Given the description of an element on the screen output the (x, y) to click on. 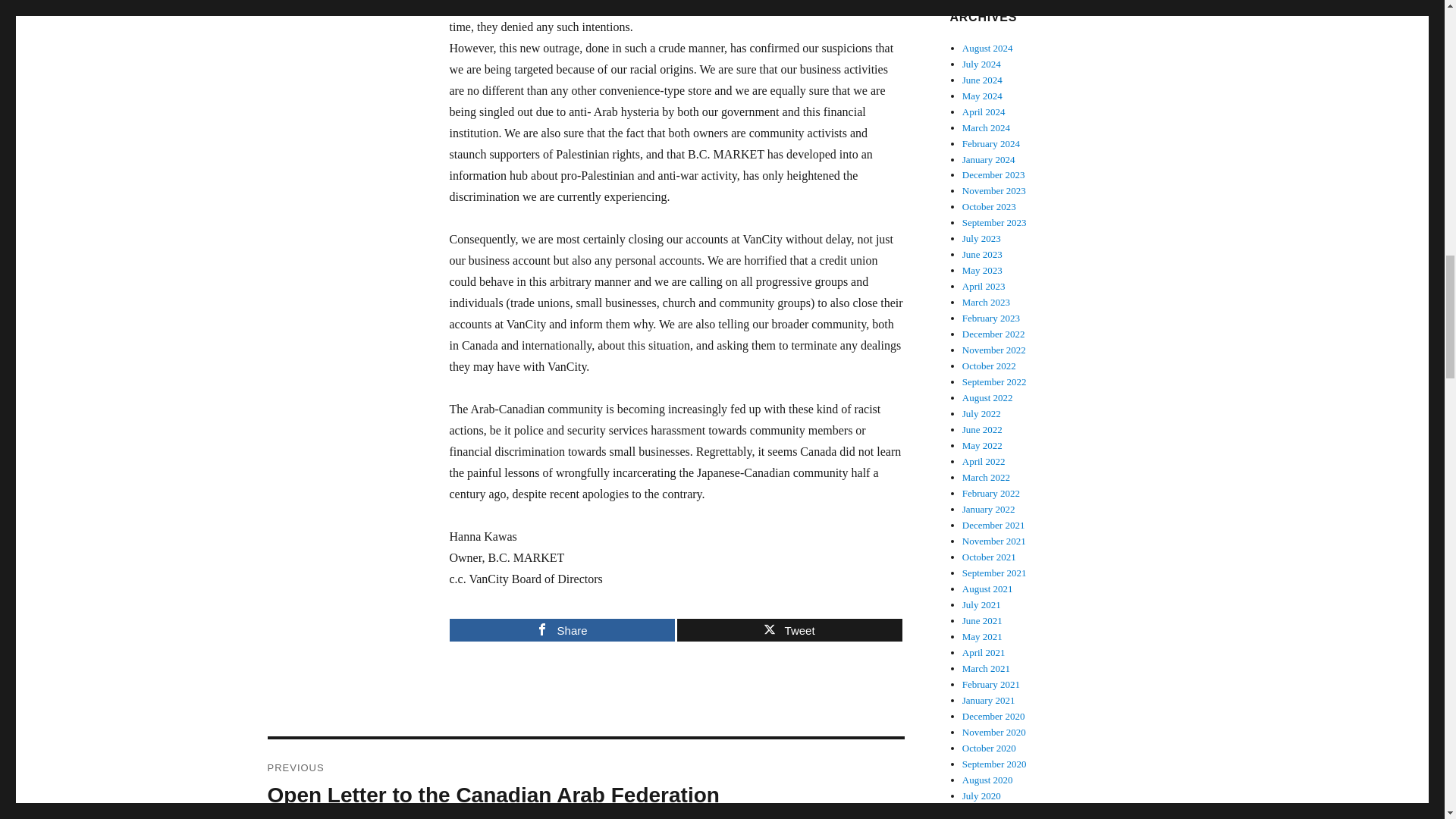
Share (561, 630)
Tweet (789, 630)
